Given the description of an element on the screen output the (x, y) to click on. 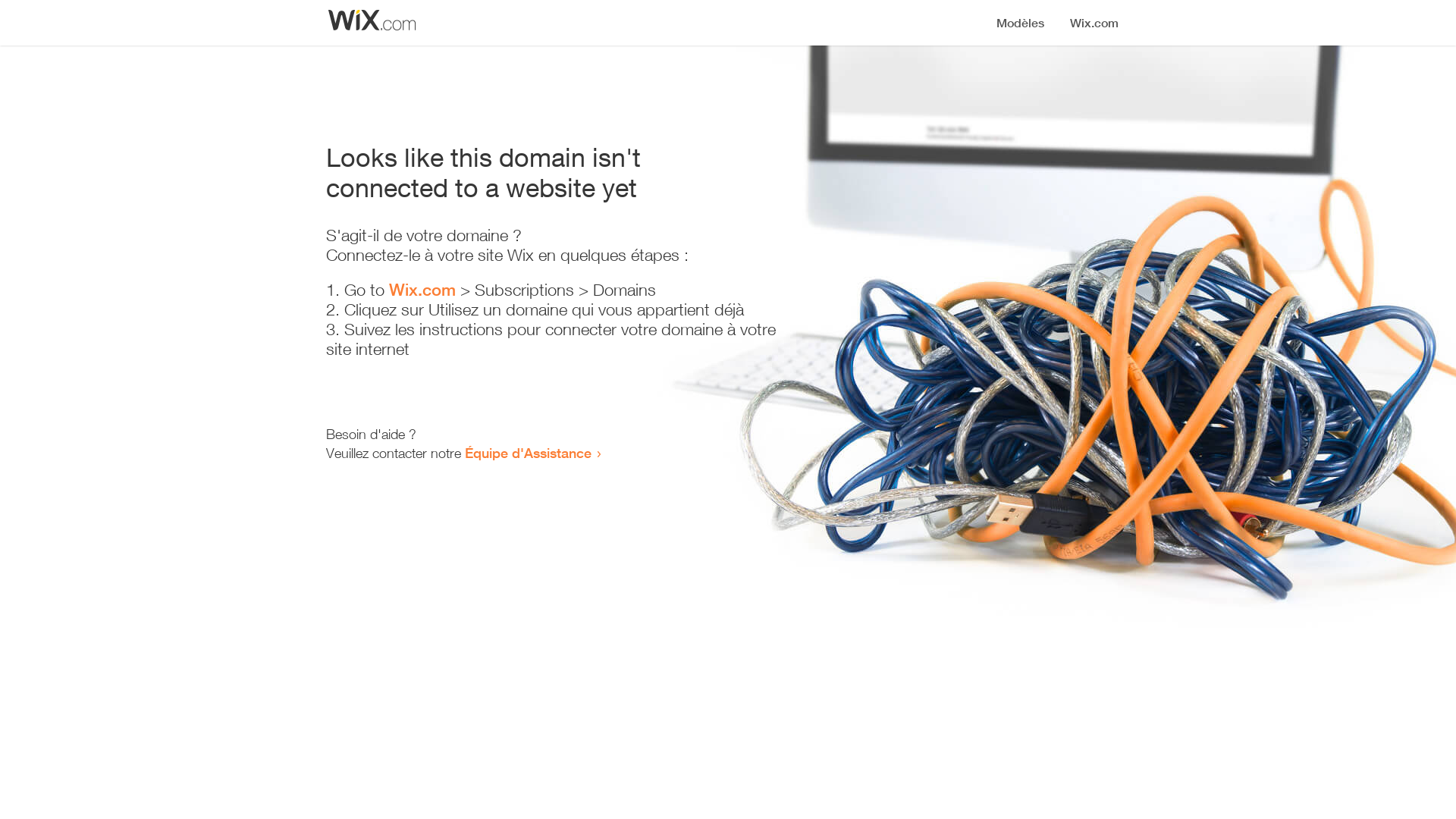
Wix.com Element type: text (422, 289)
